Given the description of an element on the screen output the (x, y) to click on. 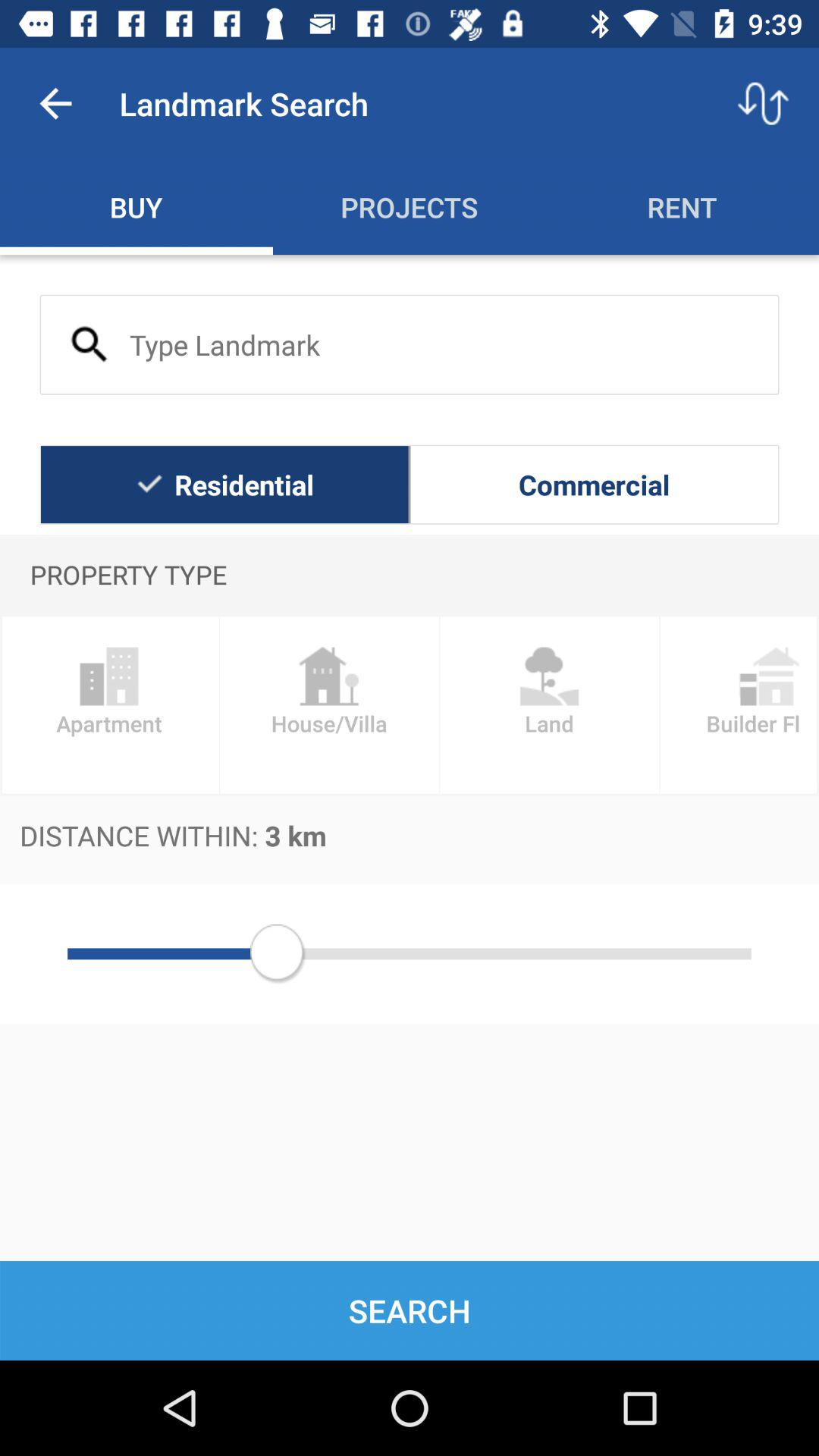
flip to the apartment item (109, 704)
